Given the description of an element on the screen output the (x, y) to click on. 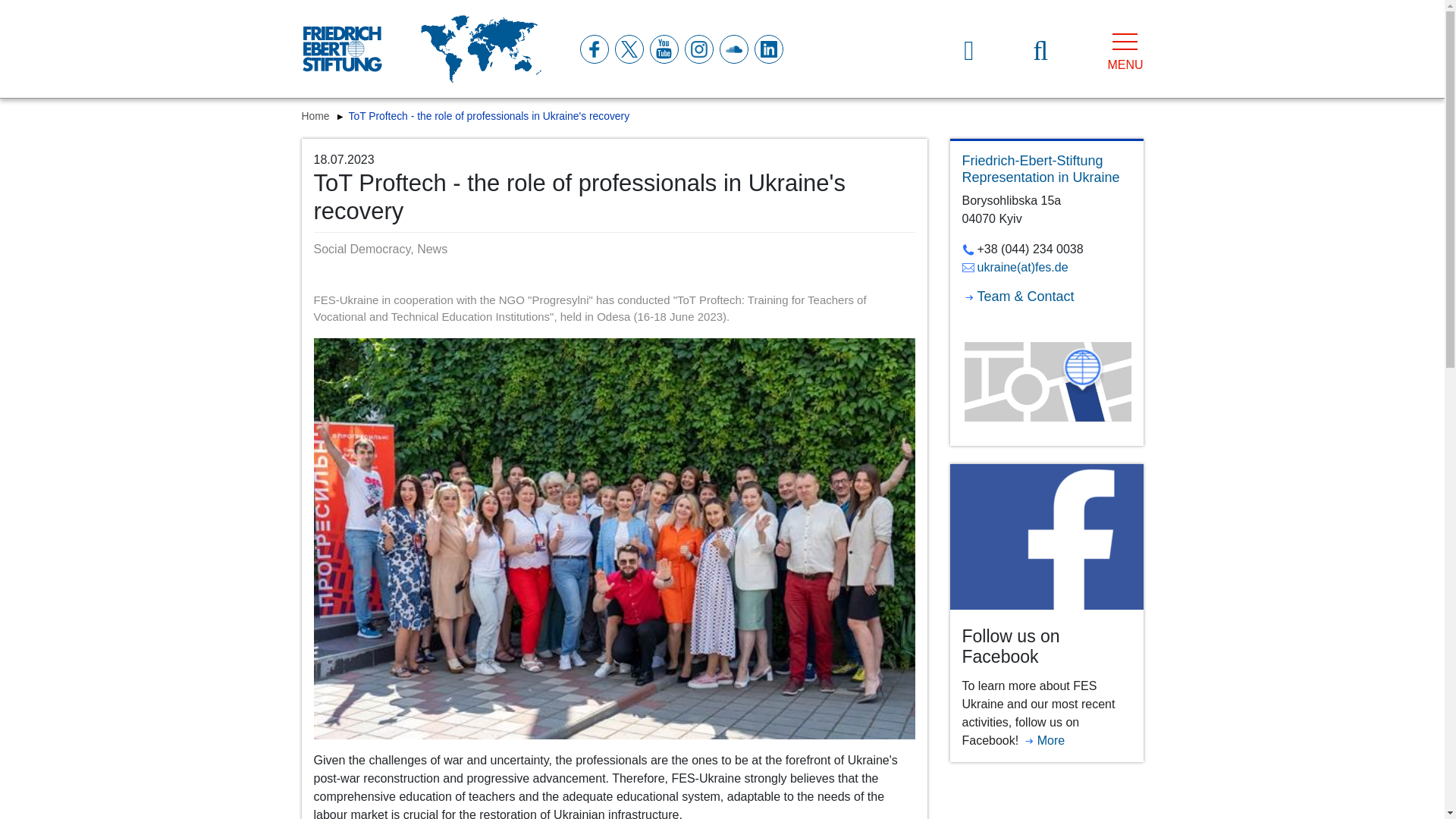
Location map kontakt (1045, 381)
Facebook Teaser (1045, 537)
instagram (698, 48)
soundcloud (733, 48)
Follow us on Facebook  (1045, 535)
Link to Home Page (341, 48)
facebook (593, 48)
linkedin (768, 48)
Location map kontakt (1045, 379)
Home (317, 115)
twitter (628, 48)
